Given the description of an element on the screen output the (x, y) to click on. 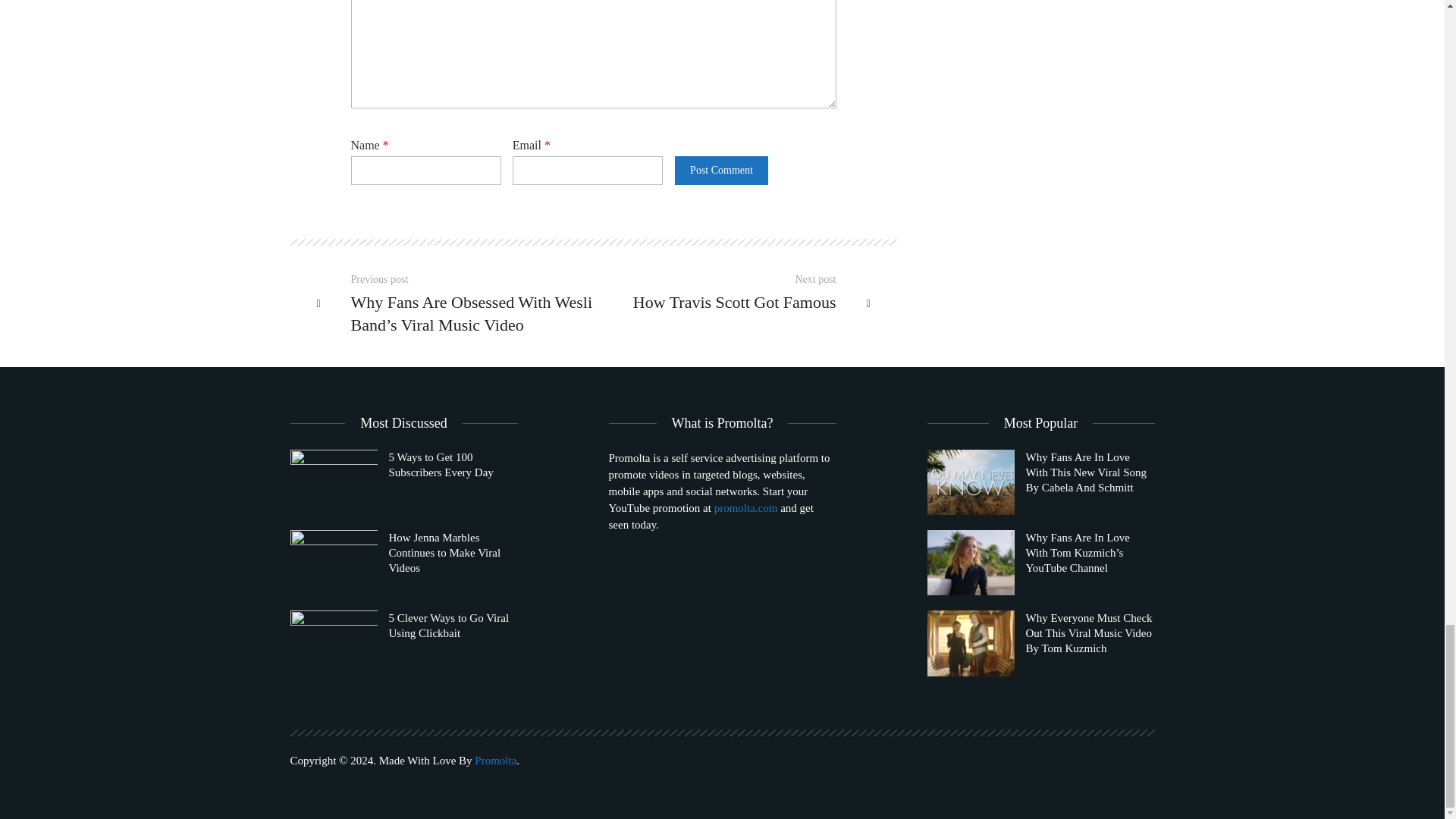
Post Comment (721, 170)
Post Comment (721, 170)
How Jenna Marbles Continues to Make Viral Videos (402, 562)
5 Clever Ways to Go Viral Using Clickbait (402, 642)
How Travis Scott Got Famous (722, 302)
5 Ways to Get 100 Subscribers Every Day (333, 482)
5 Ways to Get 100 Subscribers Every Day (402, 482)
promolta.com (745, 508)
